Given the description of an element on the screen output the (x, y) to click on. 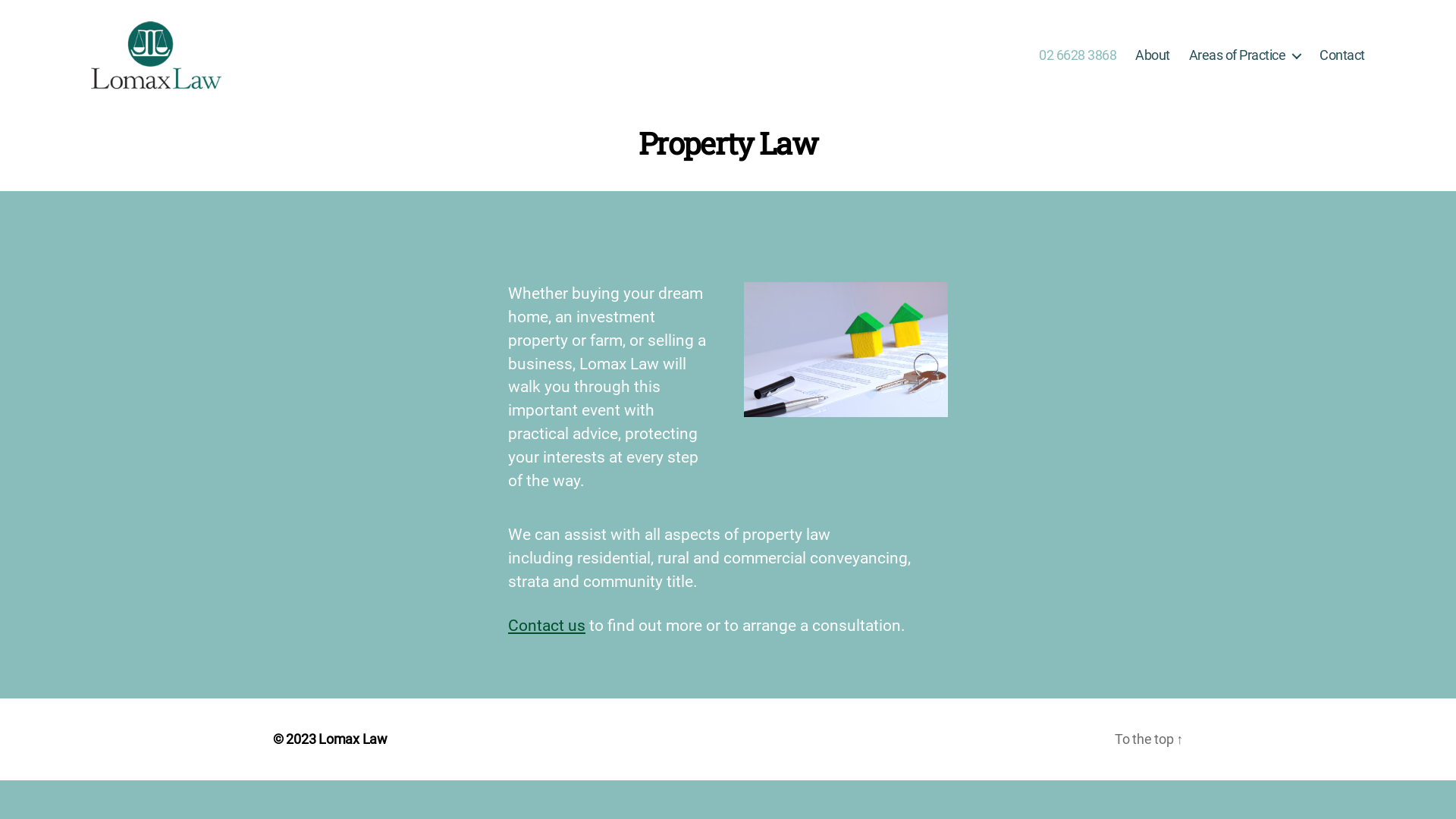
Contact us Element type: text (546, 625)
Contact Element type: text (1342, 55)
Lomax Law Element type: text (352, 738)
Areas of Practice Element type: text (1245, 55)
02 6628 3868 Element type: text (1077, 55)
About Element type: text (1152, 55)
